Given the description of an element on the screen output the (x, y) to click on. 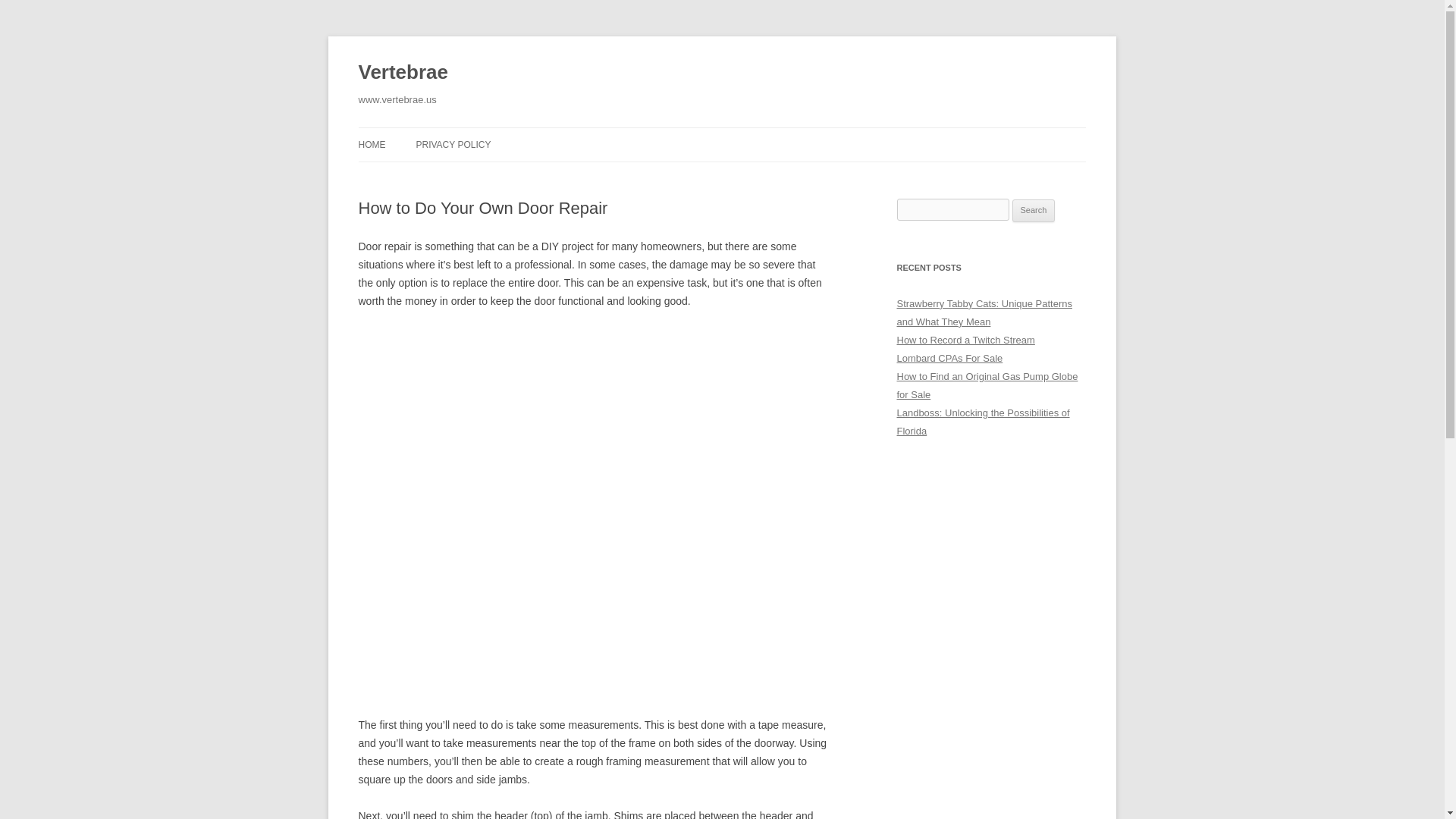
Vertebrae (402, 72)
Strawberry Tabby Cats: Unique Patterns and What They Mean (983, 312)
How to Record a Twitch Stream (964, 339)
Search (1033, 210)
PRIVACY POLICY (452, 144)
Search (1033, 210)
Lombard CPAs For Sale (949, 357)
Landboss: Unlocking the Possibilities of Florida (982, 421)
How to Find an Original Gas Pump Globe for Sale (986, 385)
Vertebrae (402, 72)
